Given the description of an element on the screen output the (x, y) to click on. 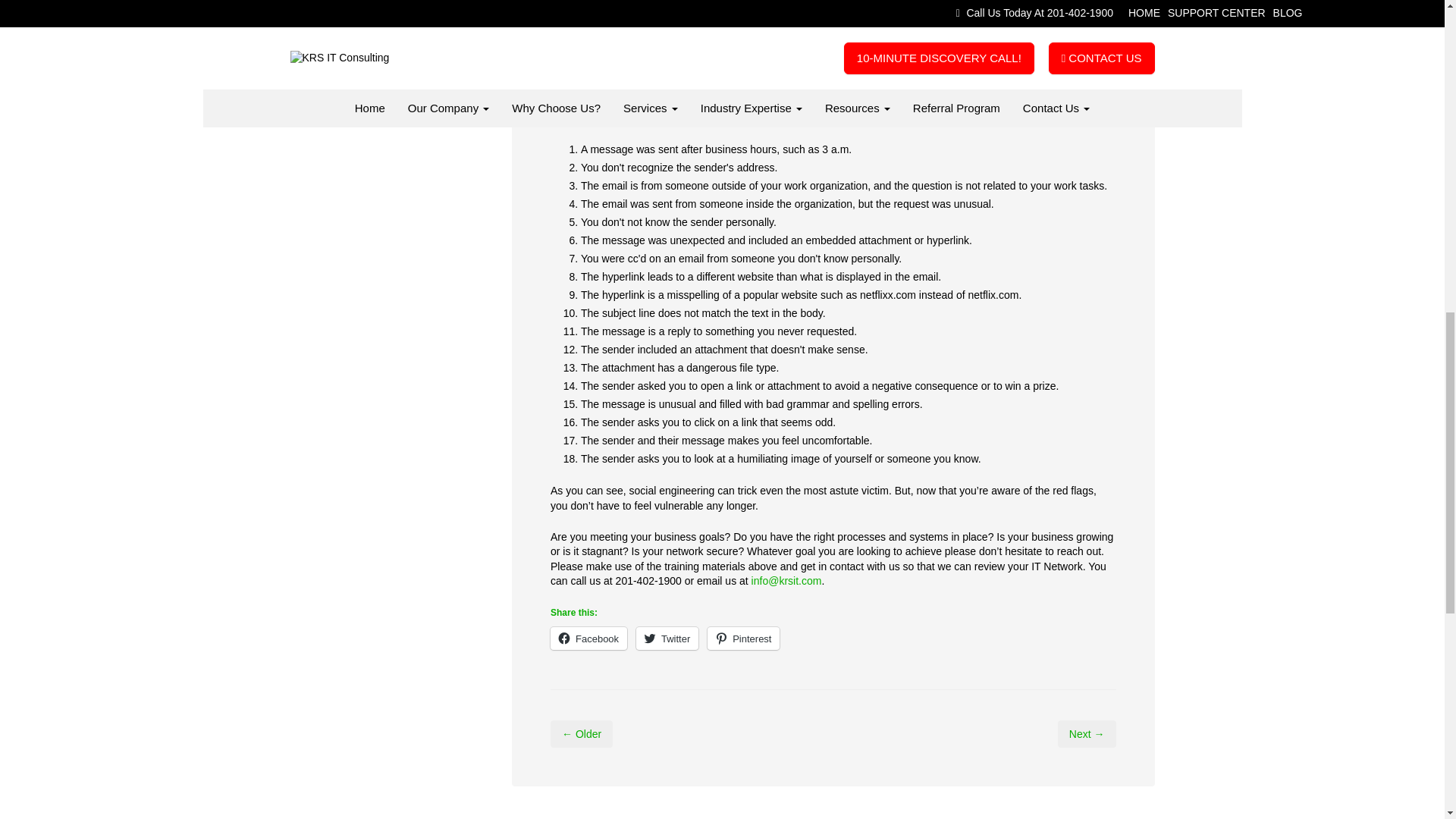
Click to share on Twitter (667, 638)
Click to share on Facebook (588, 638)
Click to share on Pinterest (742, 638)
